Given the description of an element on the screen output the (x, y) to click on. 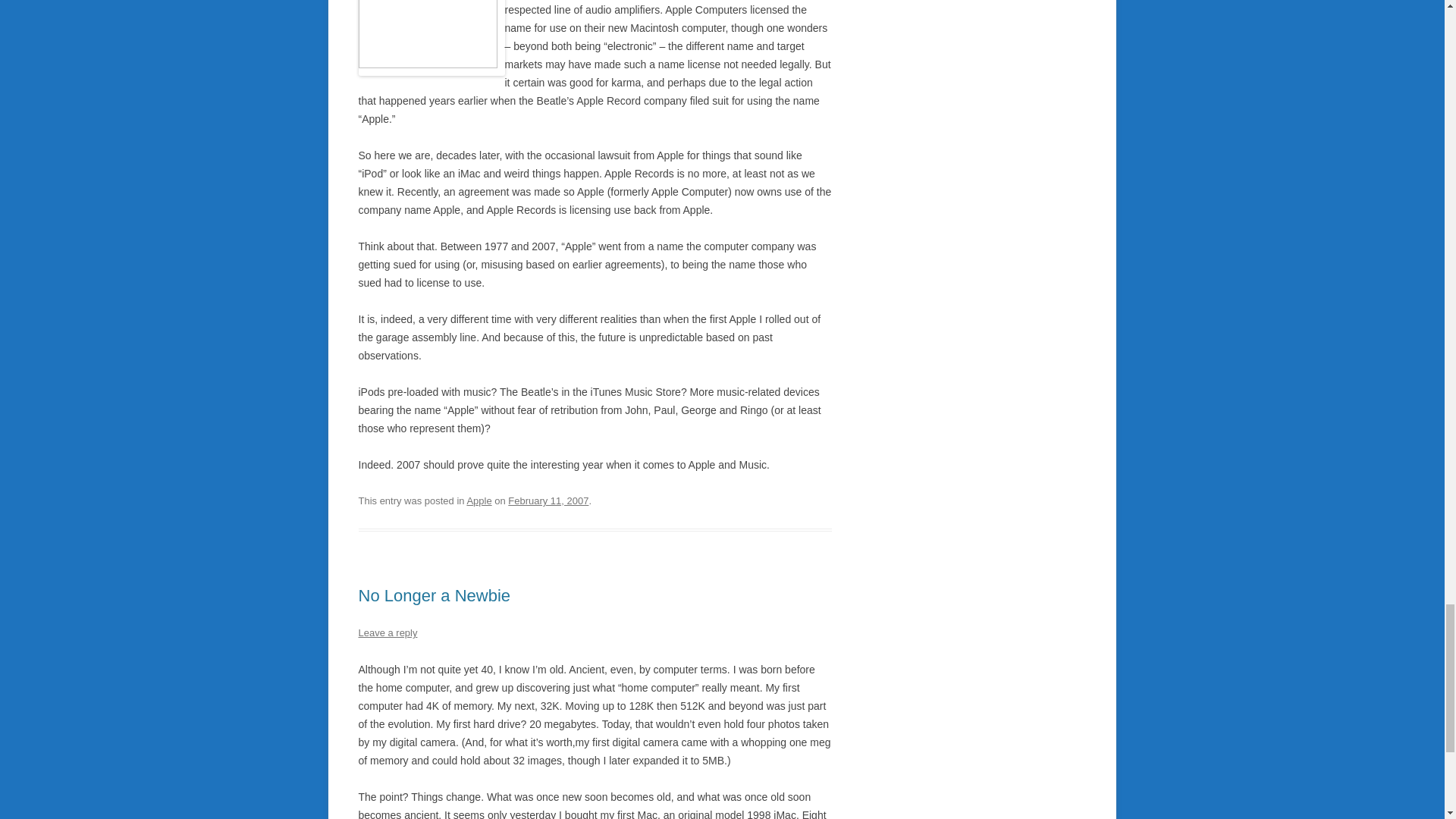
February 11, 2007 (548, 500)
No Longer a Newbie (434, 595)
Leave a reply (387, 632)
Apple (478, 500)
4:11 am (548, 500)
